Given the description of an element on the screen output the (x, y) to click on. 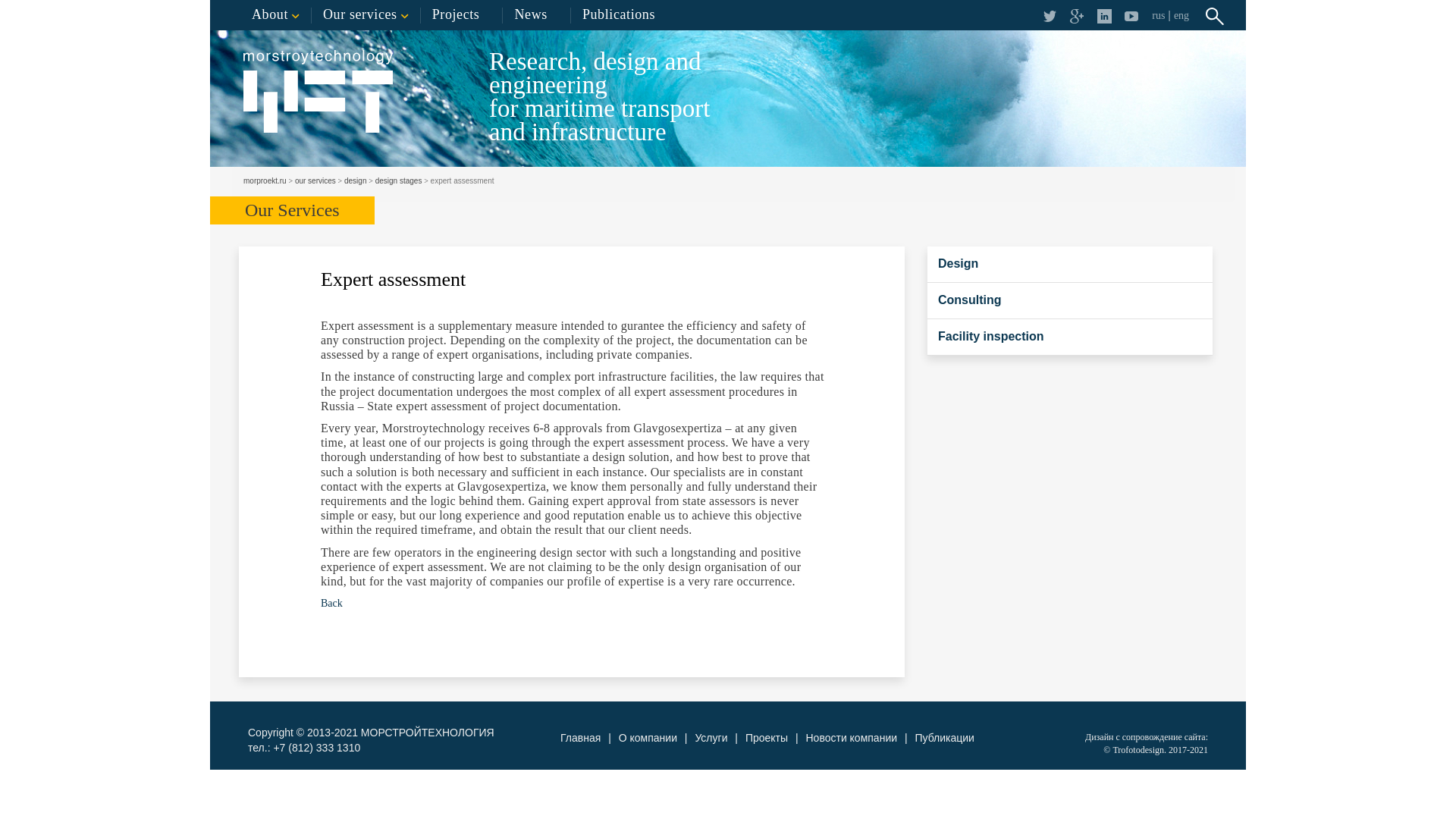
Our services (366, 14)
About (275, 14)
